Given the description of an element on the screen output the (x, y) to click on. 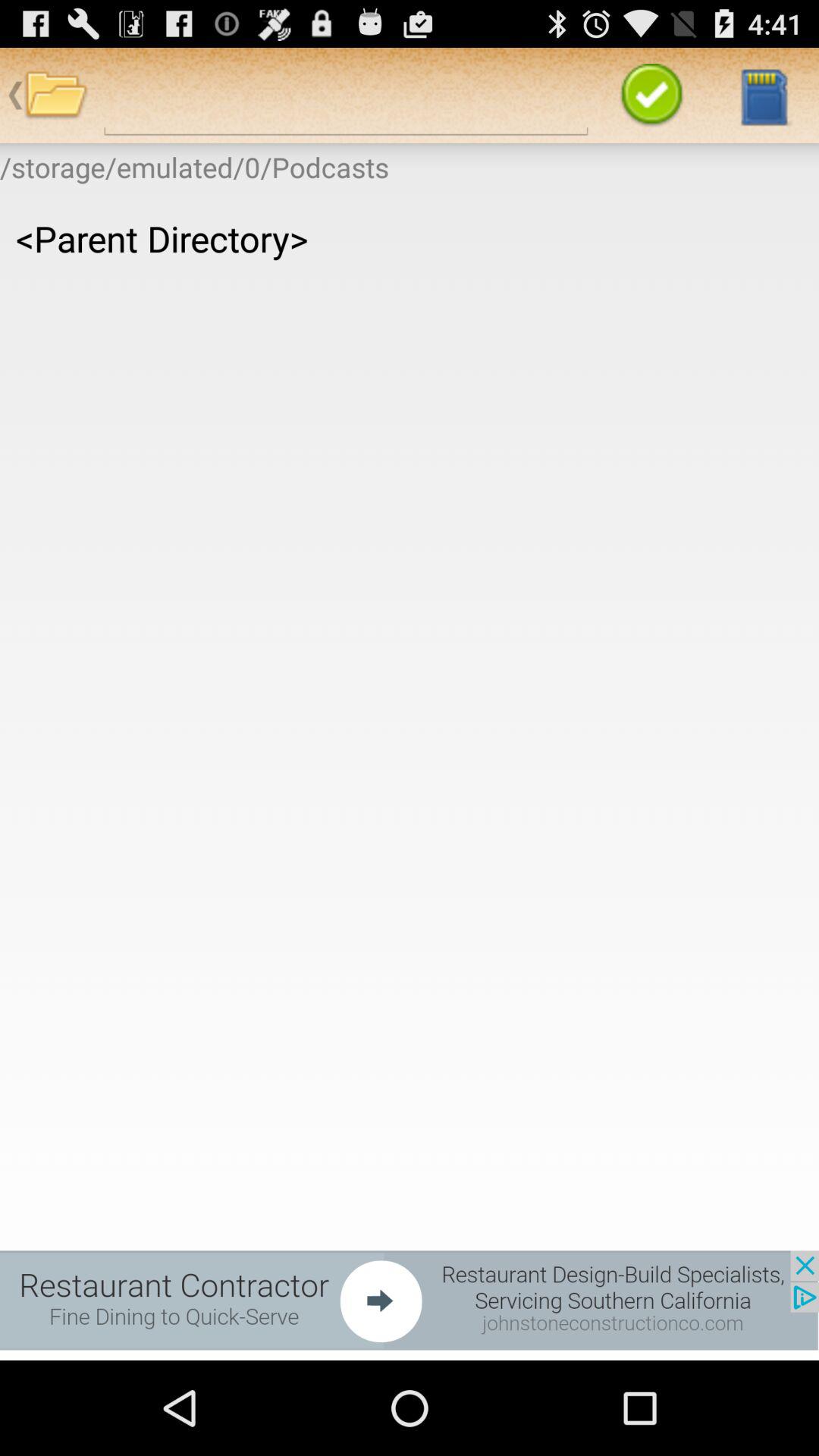
advertising (409, 1300)
